Given the description of an element on the screen output the (x, y) to click on. 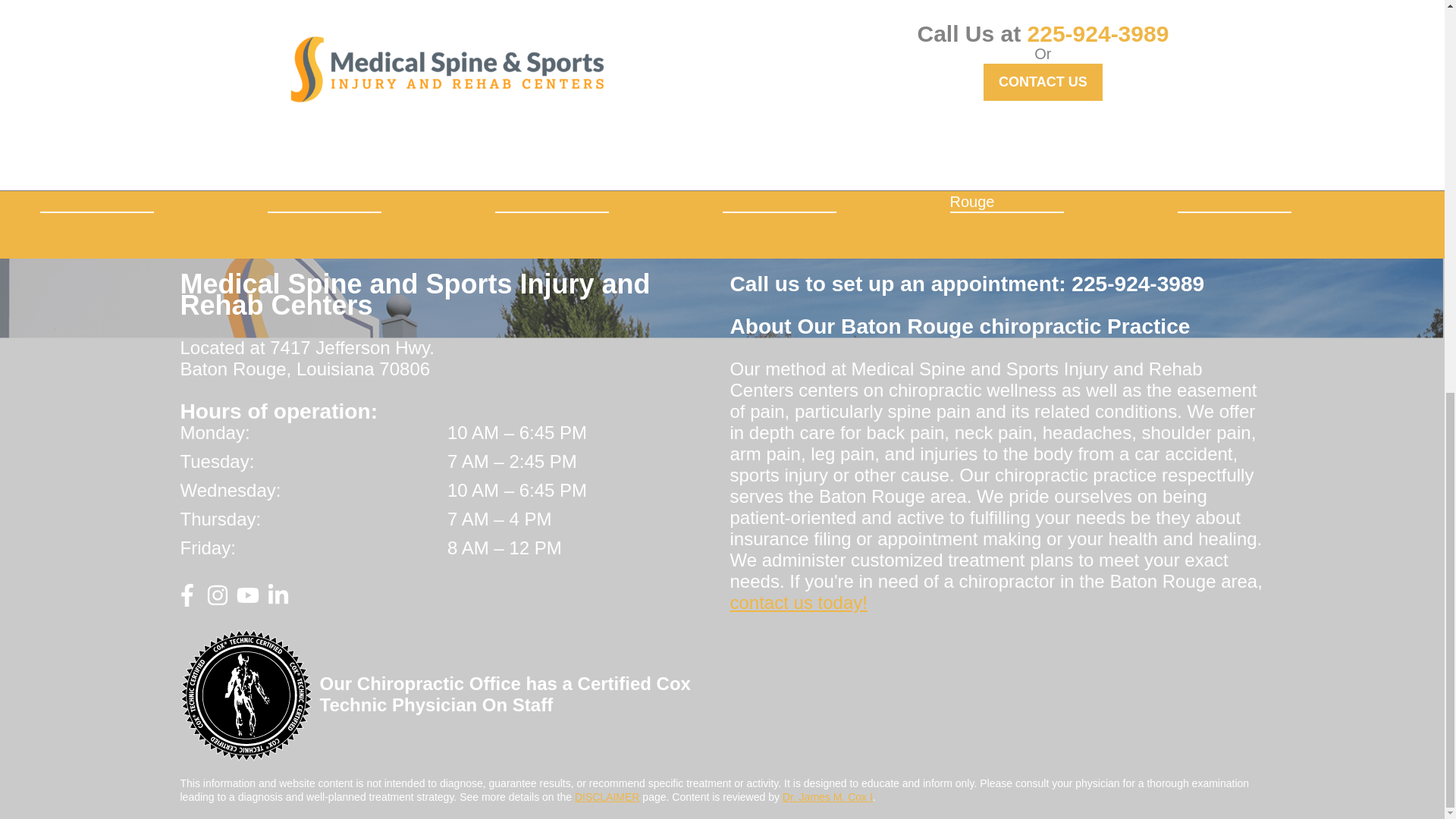
Subscribe to us on YouTube (247, 600)
Like us on Facebook (187, 600)
Follow us on Instagram (217, 600)
Connect with us on LinkedIn (277, 600)
